Given the description of an element on the screen output the (x, y) to click on. 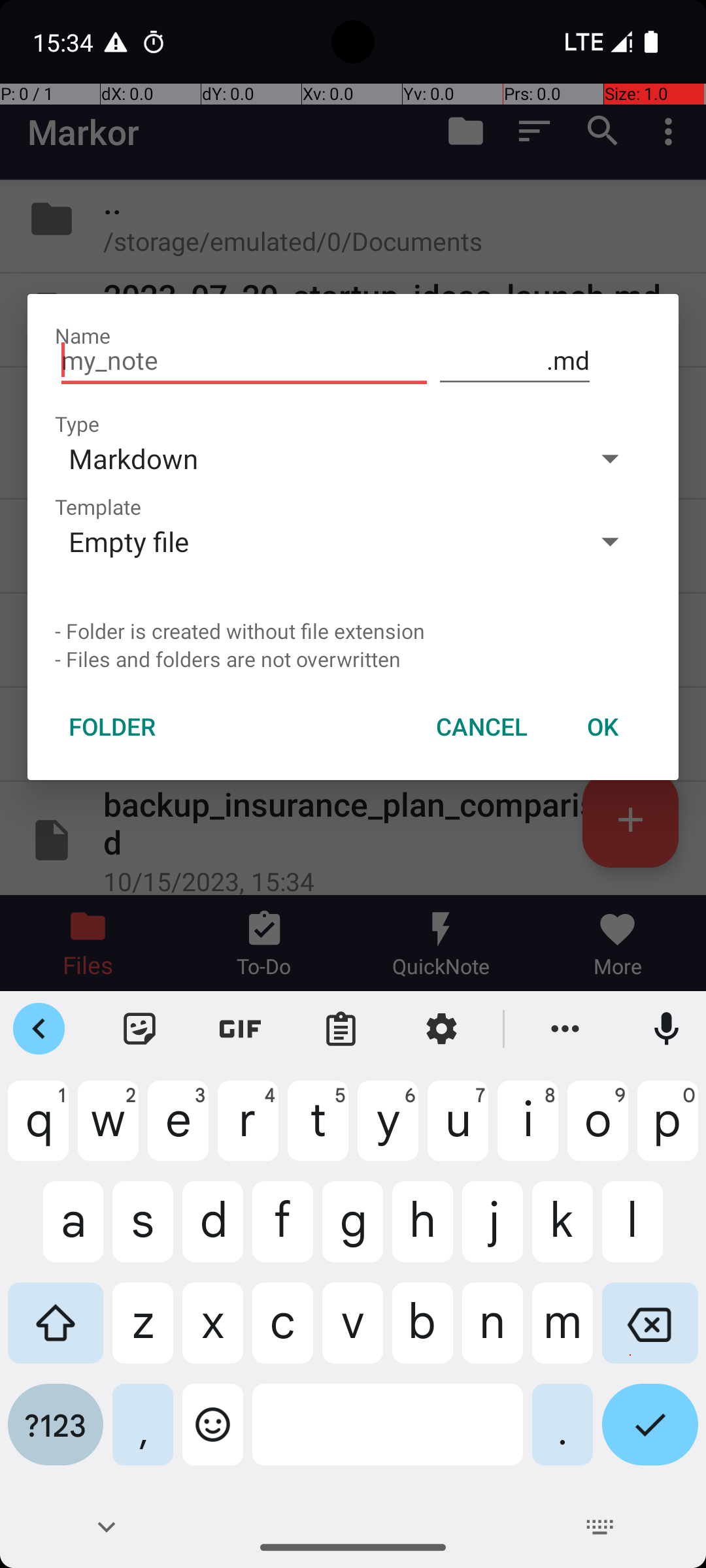
my_note Element type: android.widget.EditText (243, 360)
.md Element type: android.widget.EditText (514, 360)
Type Element type: android.widget.TextView (76, 423)
Template Element type: android.widget.TextView (97, 506)
- Folder is created without file extension Element type: android.widget.TextView (352, 630)
- Files and folders are not overwritten Element type: android.widget.TextView (352, 658)
FOLDER Element type: android.widget.Button (111, 726)
Markdown Element type: android.widget.TextView (311, 457)
Empty file Element type: android.widget.TextView (311, 540)
Done Element type: android.widget.FrameLayout (649, 1434)
